Given the description of an element on the screen output the (x, y) to click on. 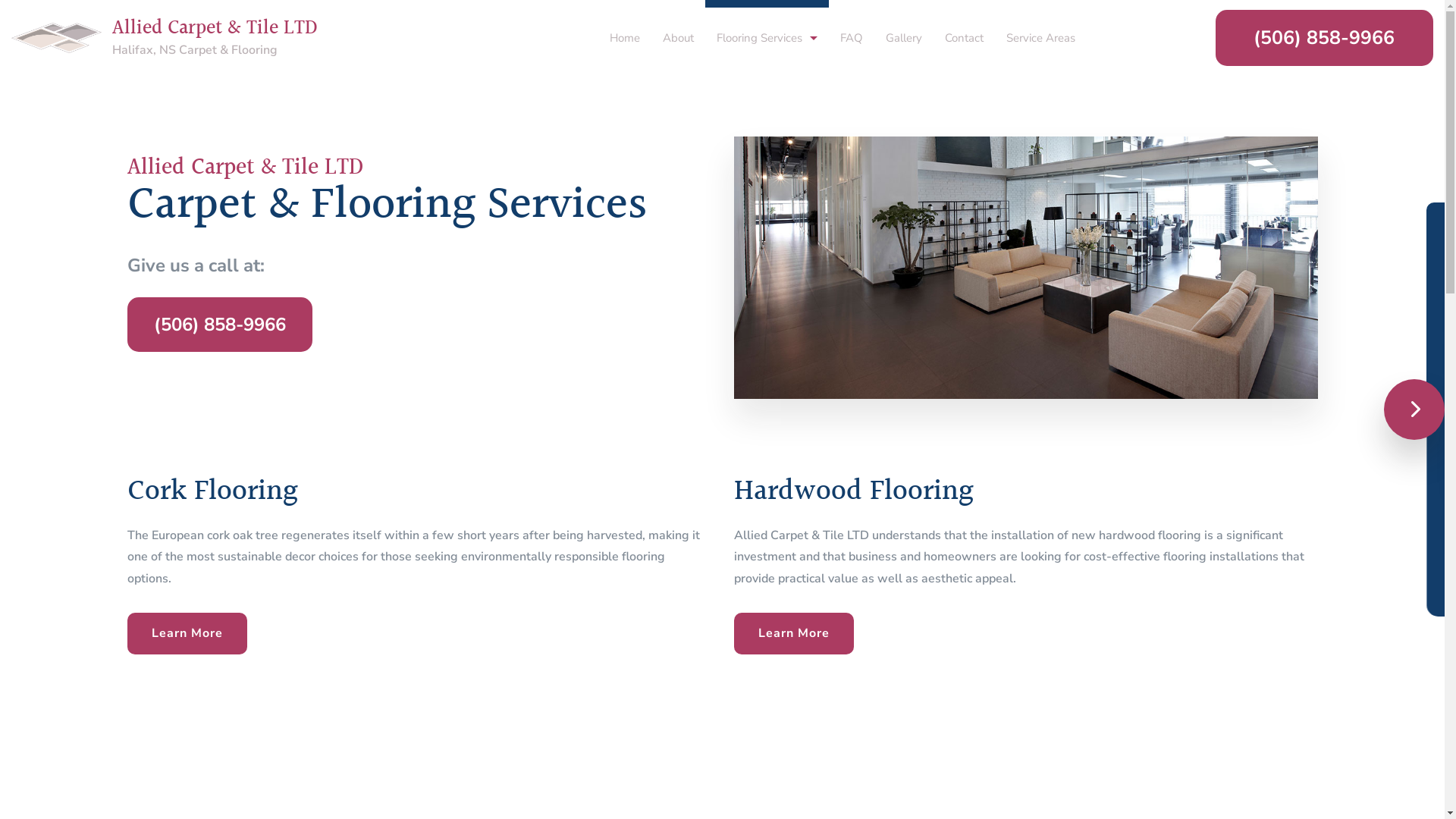
Learn More Element type: text (187, 633)
Service Areas Element type: text (1040, 27)
Cork Flooring Element type: text (766, 67)
Stone Flooring Element type: text (766, 147)
About Element type: text (678, 27)
(506) 858-9966 Element type: text (1323, 37)
Flooring Systems Element type: text (766, 307)
Carpet Installation Element type: text (766, 254)
Gallery Element type: text (903, 27)
(506) 858-9966 Element type: text (219, 324)
Commercial Carpeting Element type: text (766, 279)
FAQ Element type: text (851, 27)
Vinyl Flooring Element type: text (766, 173)
Allied Carpet & Tile LTD Element type: text (271, 29)
Home Element type: text (624, 27)
Learn More Element type: text (793, 633)
Hardwood Flooring Element type: text (766, 94)
Flooring Design Element type: text (766, 201)
Flooring Services Element type: text (766, 27)
Contact Element type: text (963, 27)
Hardwood Refinishing Element type: text (766, 226)
Laminate Flooring Element type: text (766, 120)
